Given the description of an element on the screen output the (x, y) to click on. 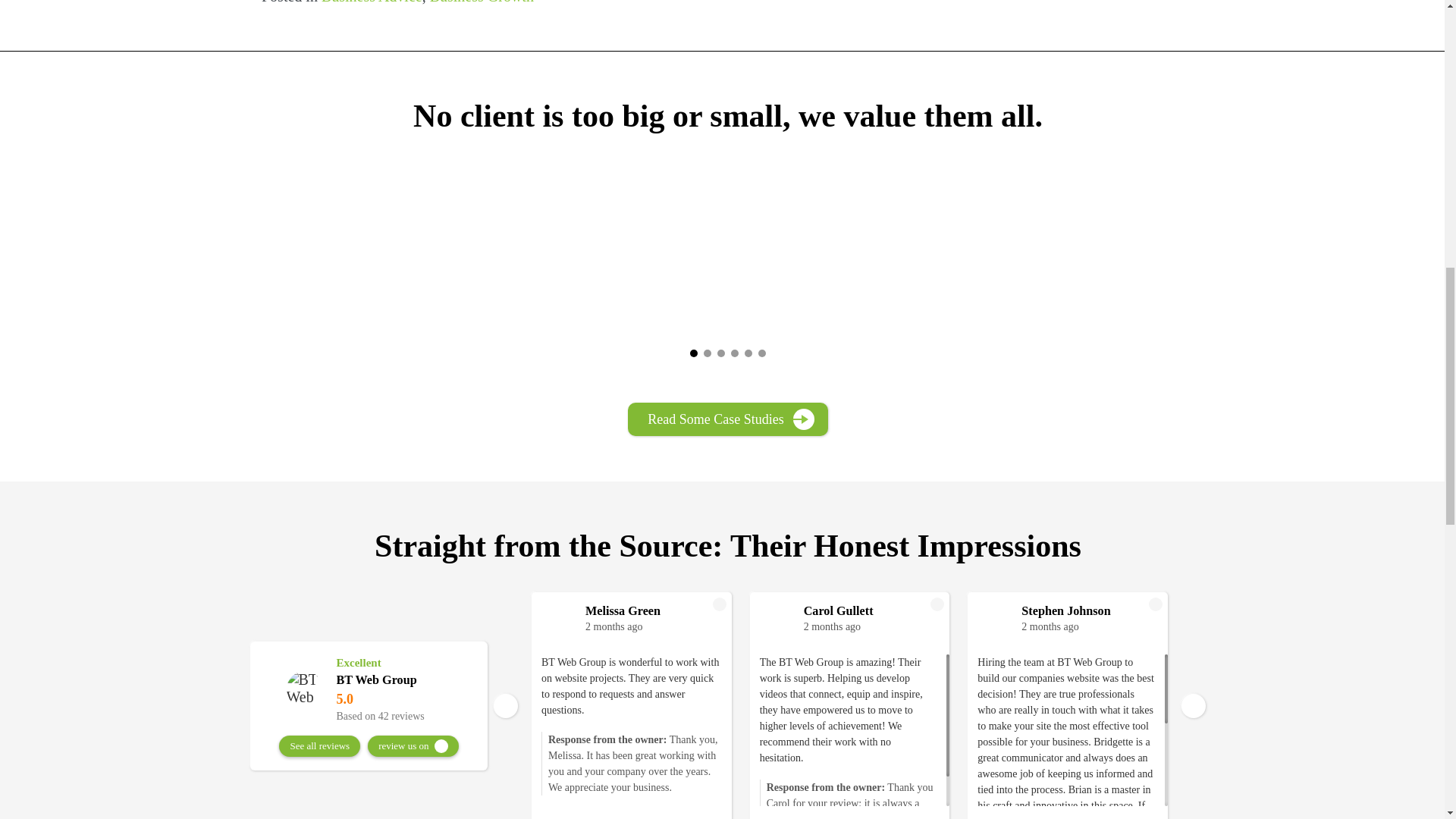
Response from the owner: Thank you, Tyler! (1285, 716)
Melissa Green (652, 610)
Carol Gullett (871, 610)
Stephen Johnson (1089, 610)
BT Web Group (304, 688)
Tyler Swope (1307, 610)
